Given the description of an element on the screen output the (x, y) to click on. 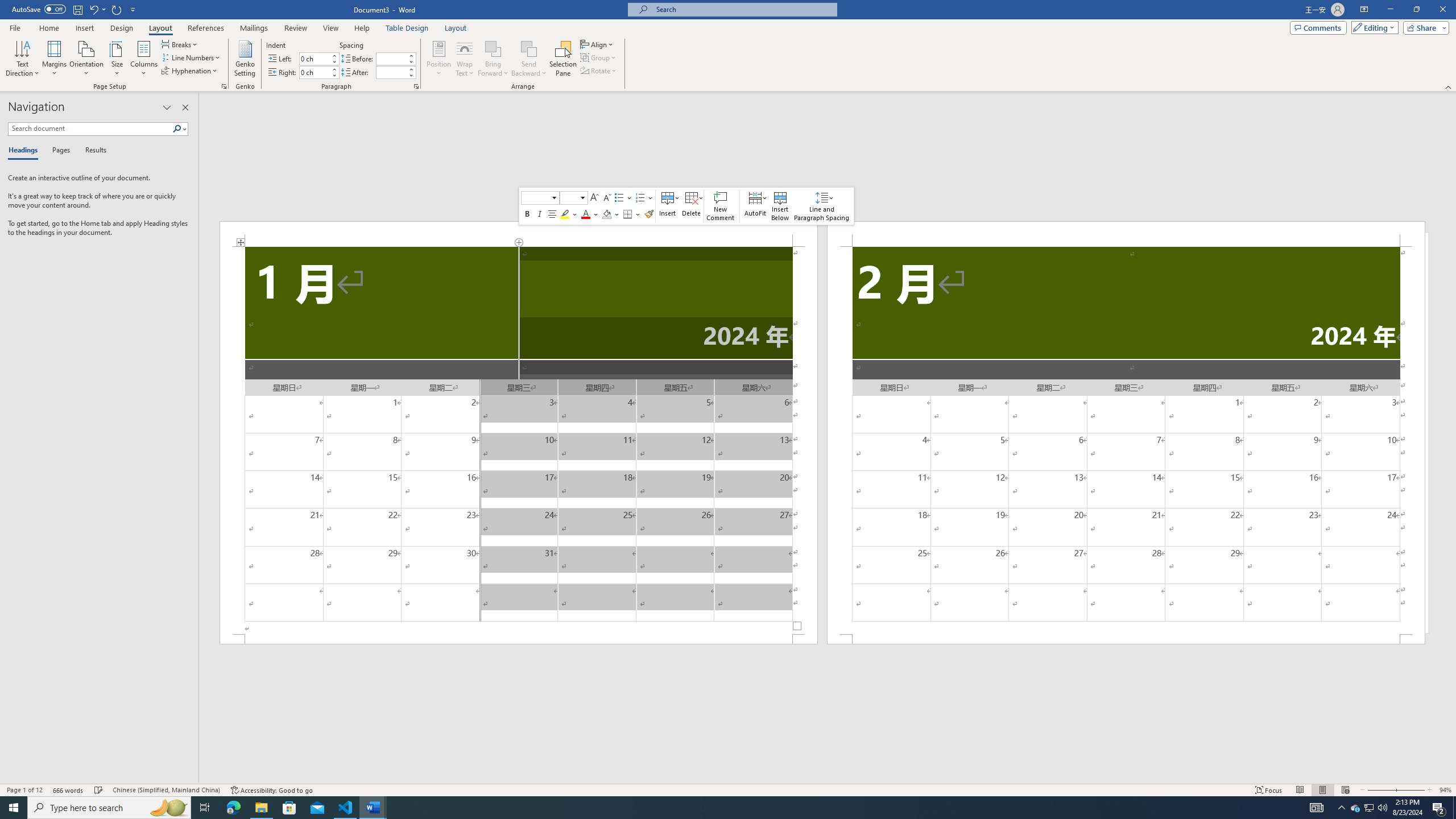
Columns (143, 58)
More (411, 69)
Bring Forward (492, 48)
